Given the description of an element on the screen output the (x, y) to click on. 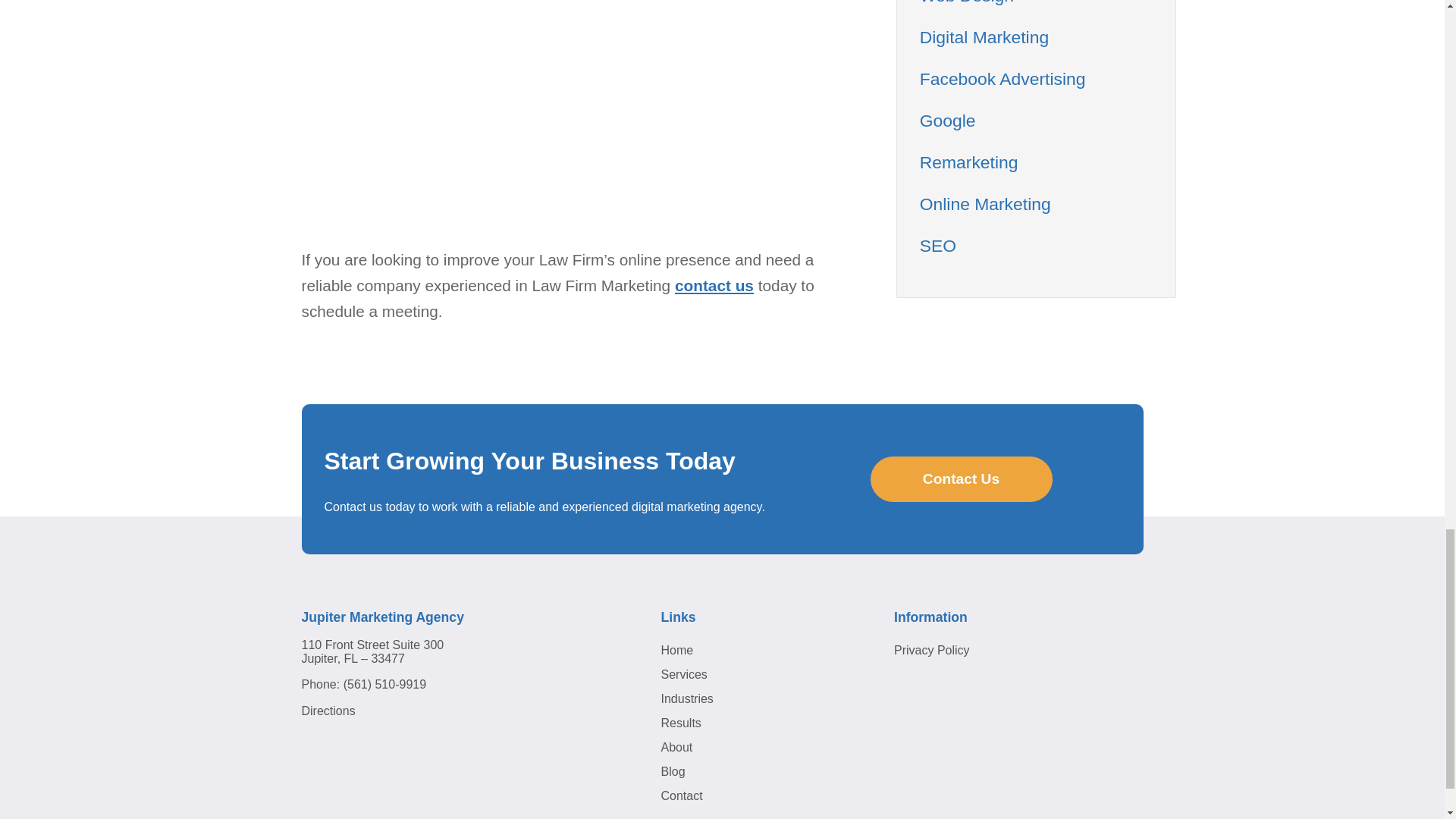
Online Marketing (985, 203)
Facebook Advertising (1003, 78)
Digital Marketing (984, 36)
Remarketing (968, 161)
Industries (687, 698)
Home (677, 649)
Contact Us (961, 479)
Web Design (966, 2)
Google (947, 120)
Services (684, 674)
